Given the description of an element on the screen output the (x, y) to click on. 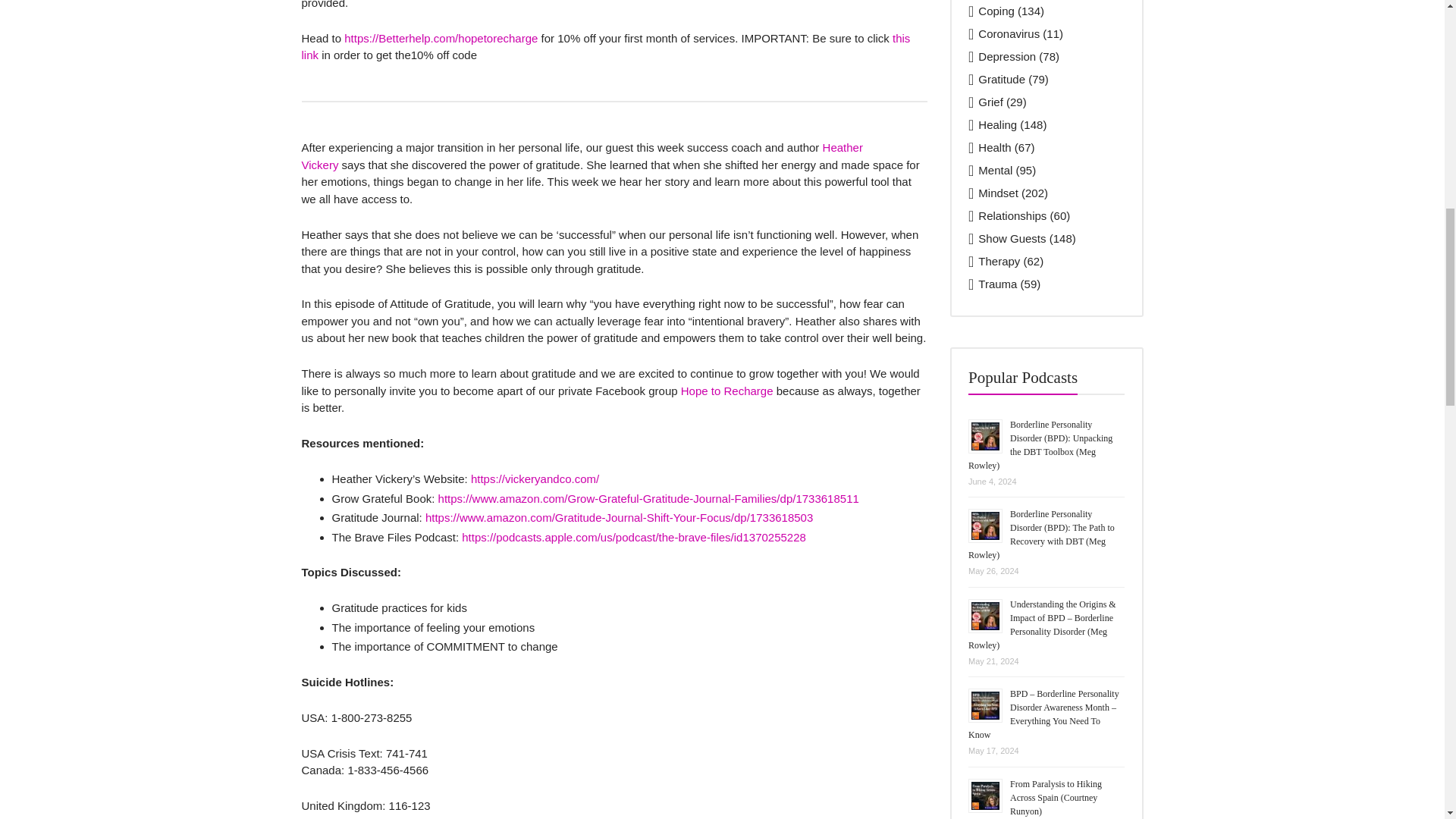
this link (606, 46)
Hope to Recharge (727, 390)
Heather Vickery (582, 155)
